Given the description of an element on the screen output the (x, y) to click on. 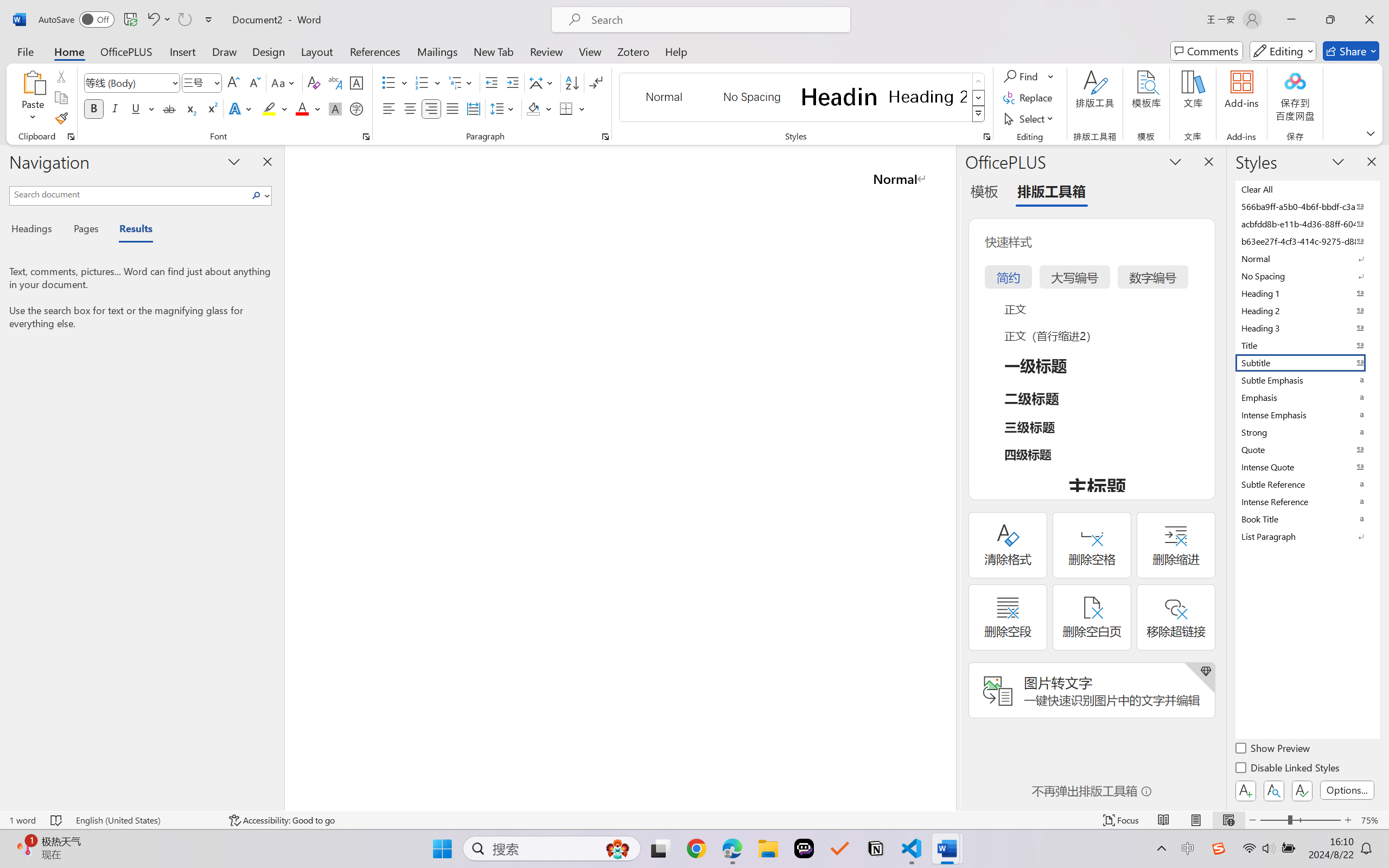
Font Color (308, 108)
Help (675, 51)
Strong (1306, 431)
Text Highlight Color (274, 108)
Subtle Emphasis (1306, 379)
Office Clipboard... (70, 136)
Save (130, 19)
Zoom In (1348, 819)
566ba9ff-a5b0-4b6f-bbdf-c3ab41993fc2 (1306, 206)
Line and Paragraph Spacing (503, 108)
Center (409, 108)
